Given the description of an element on the screen output the (x, y) to click on. 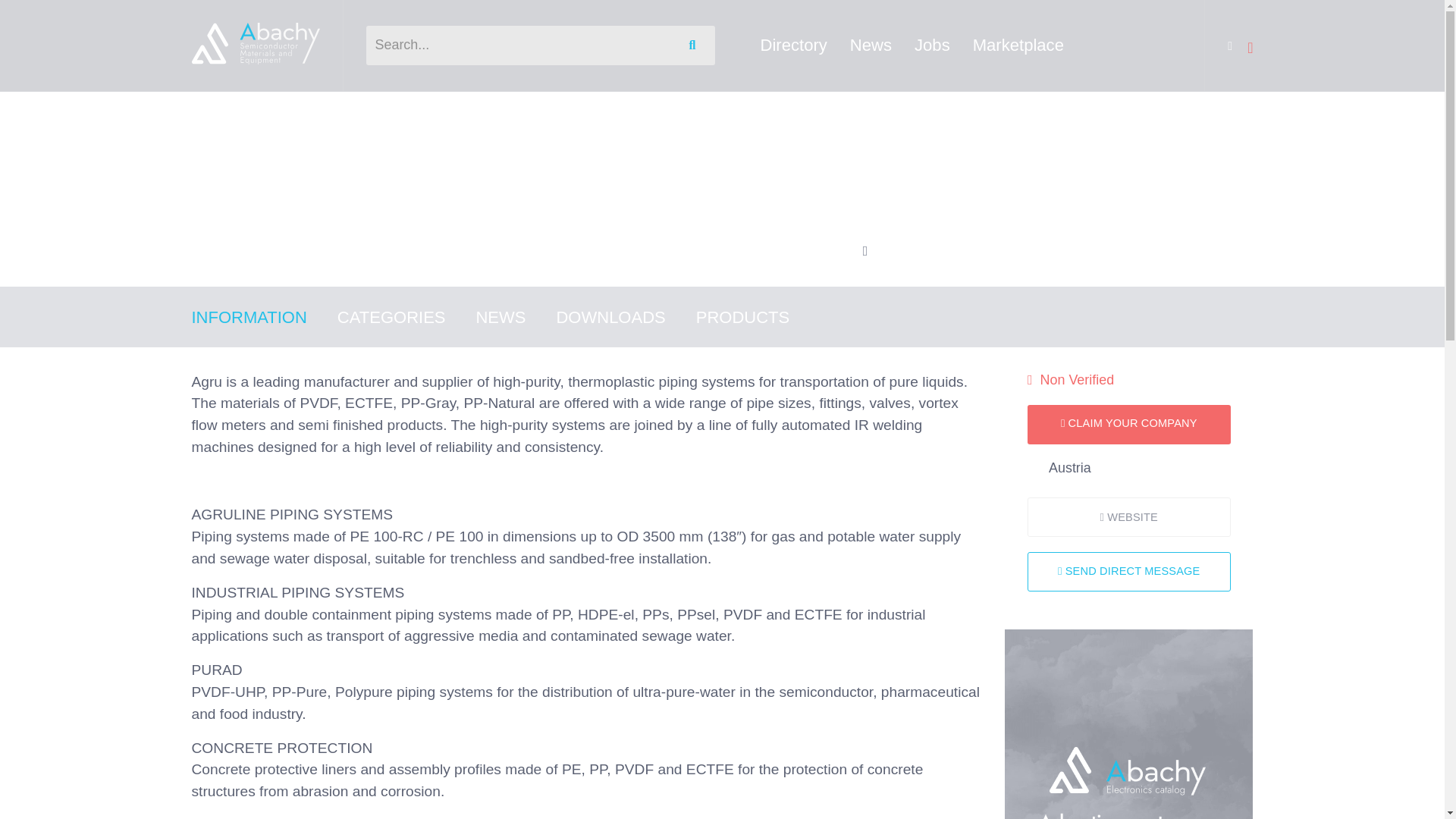
DOWNLOADS (625, 317)
Other Equipment (497, 111)
Search (694, 45)
Marketplace (1018, 44)
SEND DIRECT MESSAGE (1128, 571)
NEWS (516, 317)
PRODUCTS (757, 317)
WEBSITE (1128, 517)
CLAIM YOUR COMPANY (1128, 424)
Semiconductor Equipment (368, 111)
INFORMATION (263, 317)
Home (207, 111)
Directory (793, 44)
Semiconductor Materials and Equipment  (254, 43)
Search (694, 45)
